Given the description of an element on the screen output the (x, y) to click on. 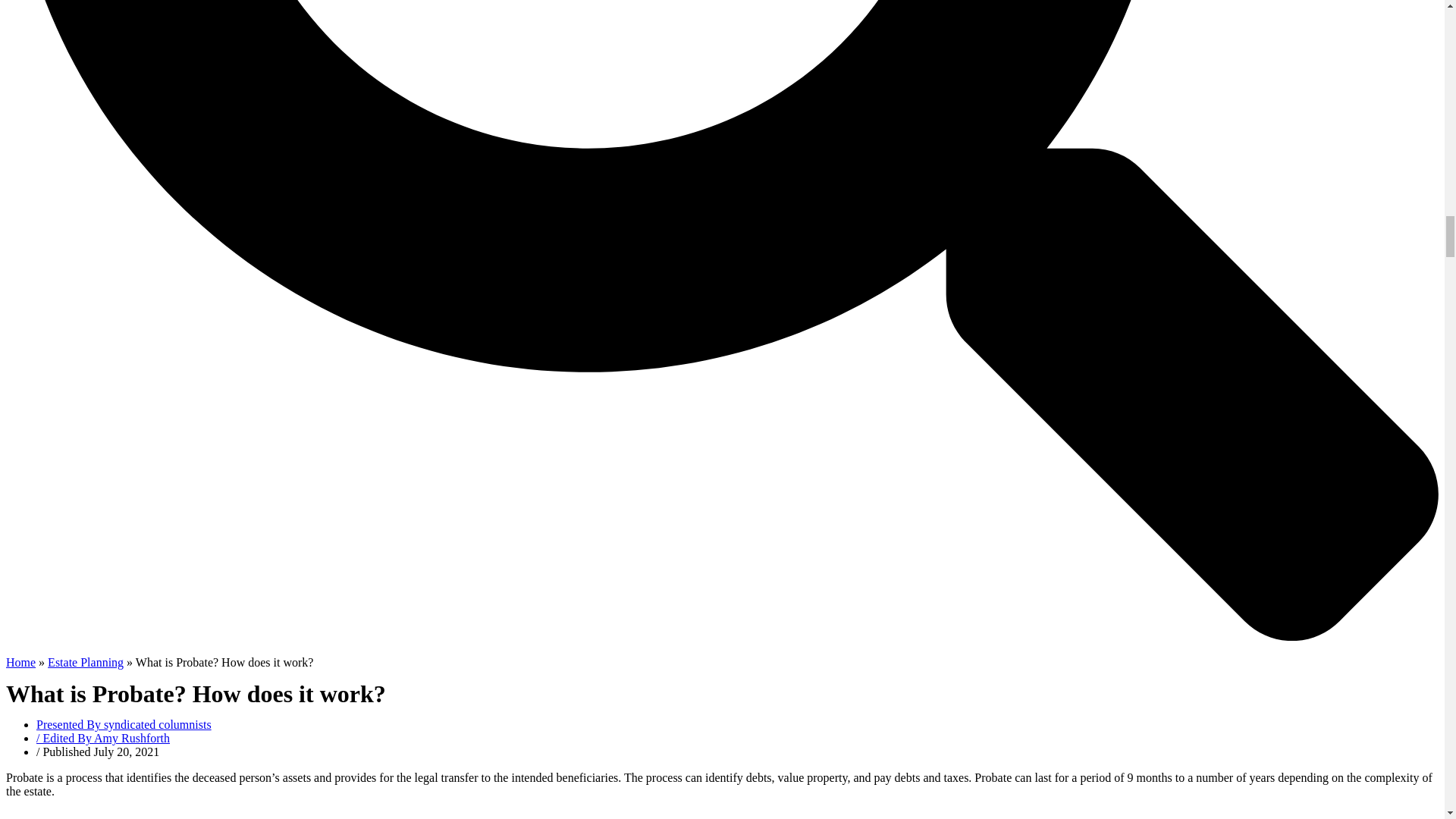
Home (19, 662)
Presented By syndicated columnists (123, 724)
Estate Planning (85, 662)
